Given the description of an element on the screen output the (x, y) to click on. 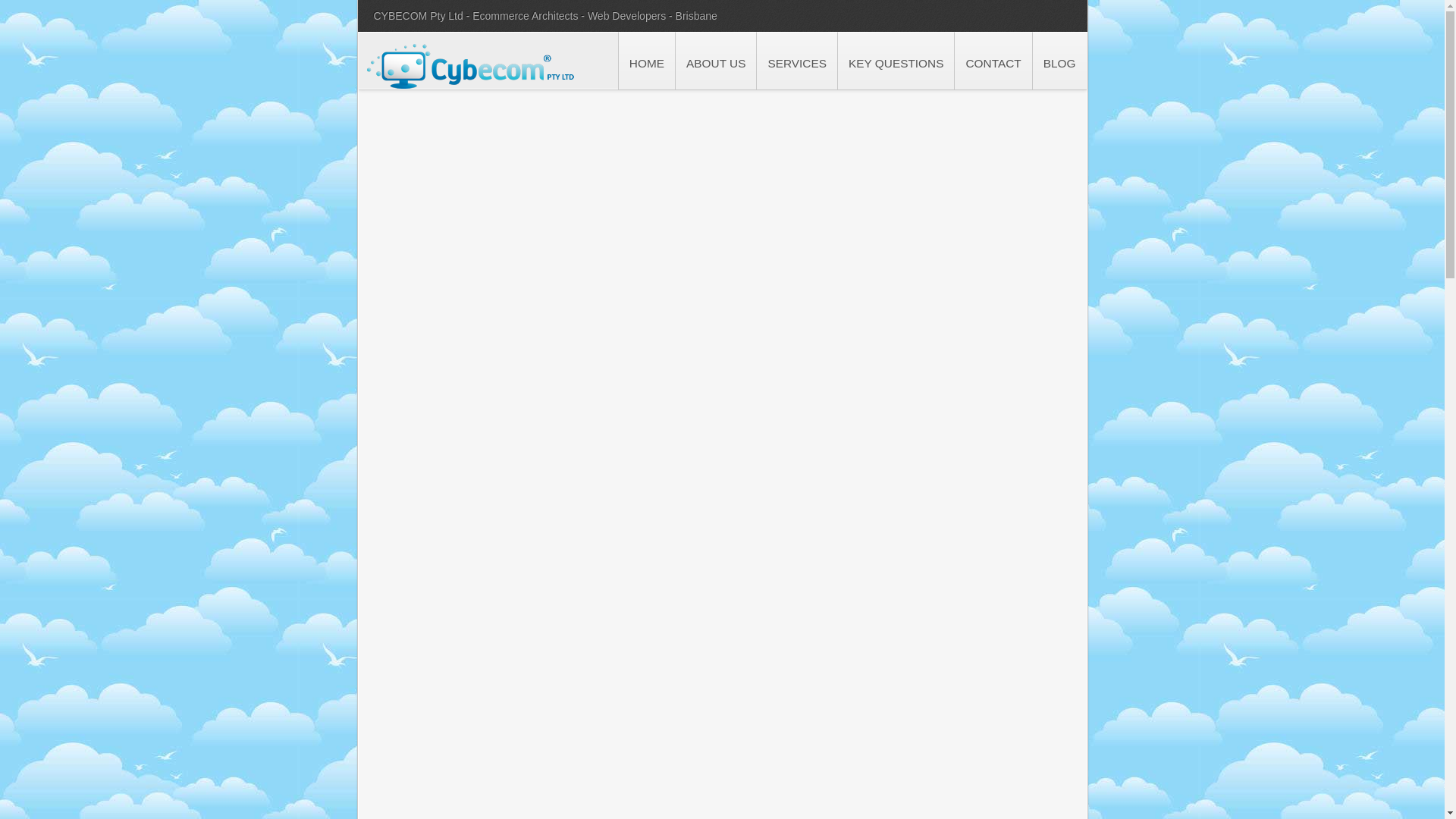
BLOG Element type: text (1059, 60)
CONTACT Element type: text (992, 60)
SERVICES Element type: text (796, 60)
HOME Element type: text (646, 60)
KEY QUESTIONS Element type: text (895, 60)
ABOUT US Element type: text (715, 60)
